Given the description of an element on the screen output the (x, y) to click on. 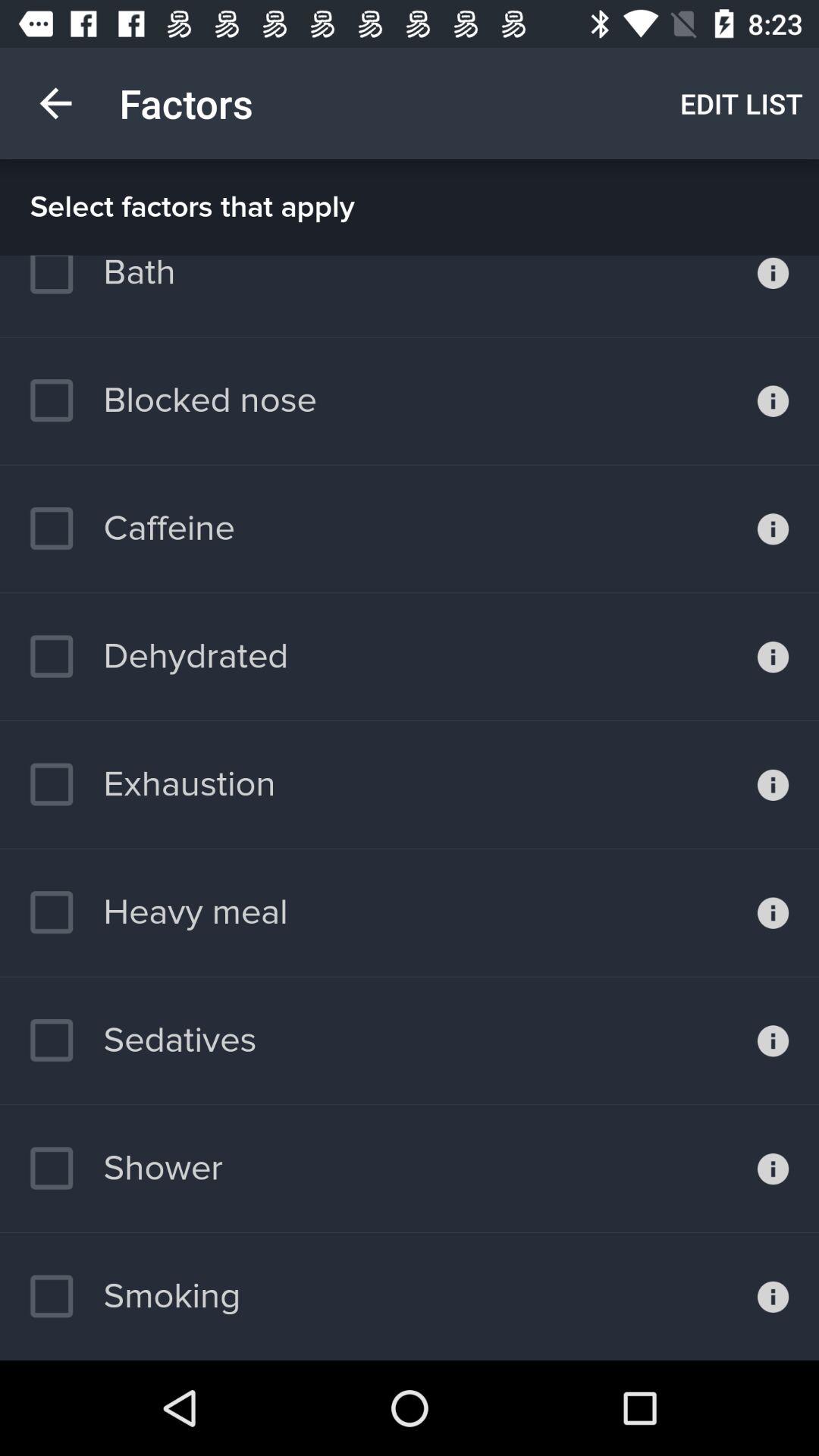
information (773, 400)
